Given the description of an element on the screen output the (x, y) to click on. 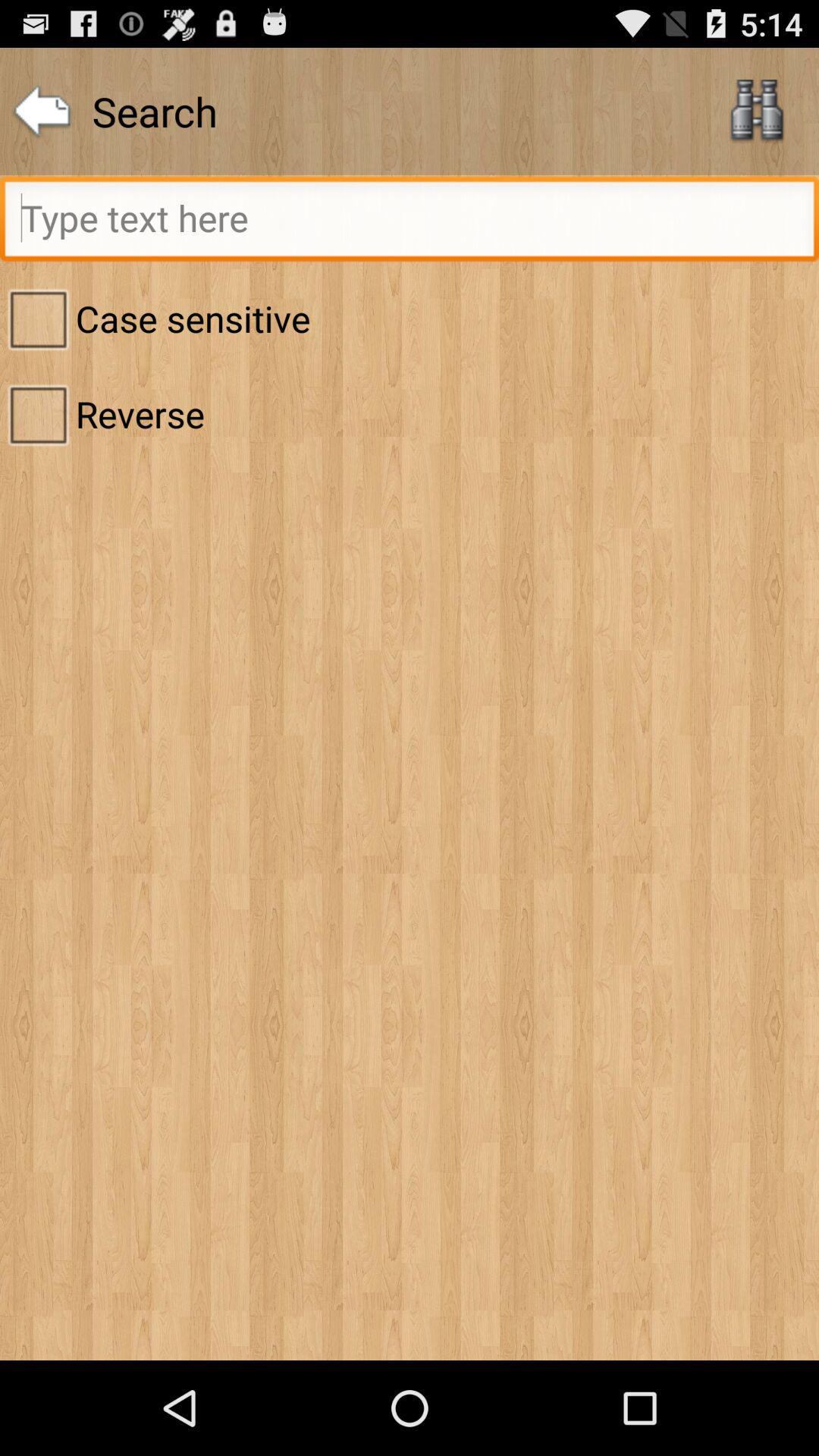
search (409, 222)
